Given the description of an element on the screen output the (x, y) to click on. 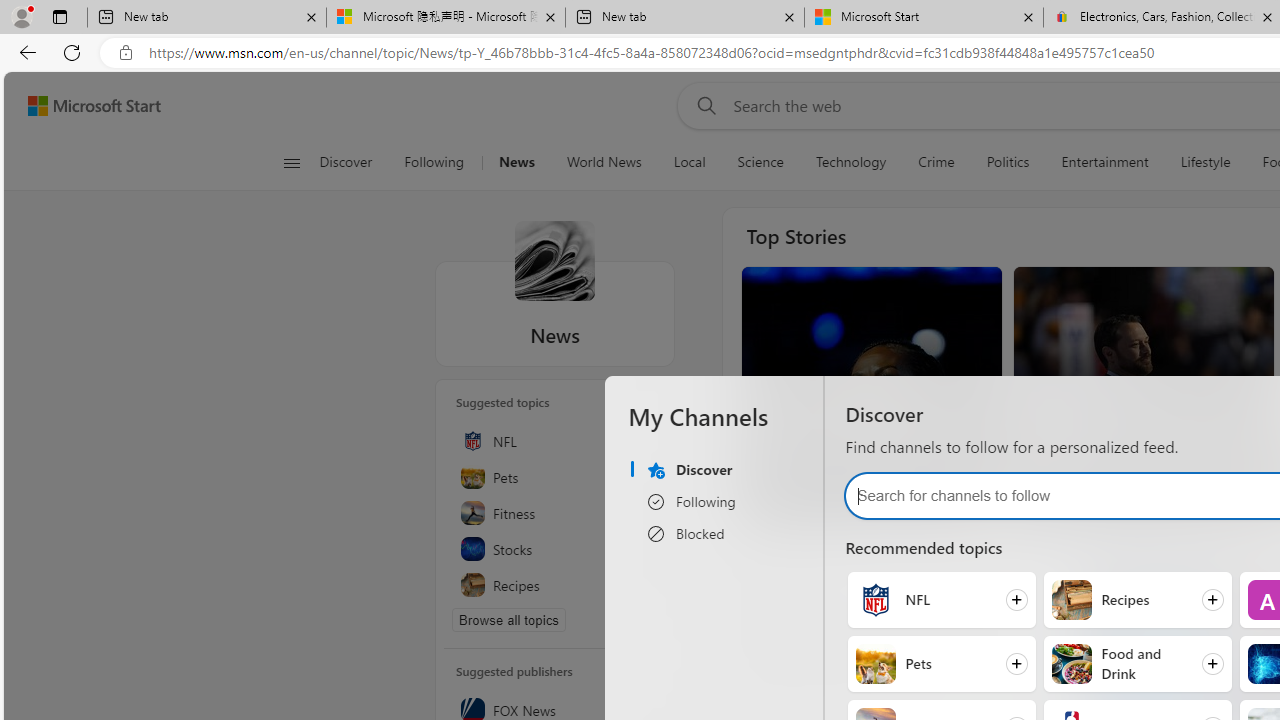
Skip to content (86, 105)
Stocks (555, 548)
57 Like (1043, 500)
Browse all topics (509, 619)
Refresh (72, 52)
Back (24, 52)
Recipes (555, 584)
World News (603, 162)
Tab actions menu (59, 16)
Close tab (1267, 16)
Politics (1007, 162)
NFL (555, 440)
Food and Drink (1070, 663)
